Given the description of an element on the screen output the (x, y) to click on. 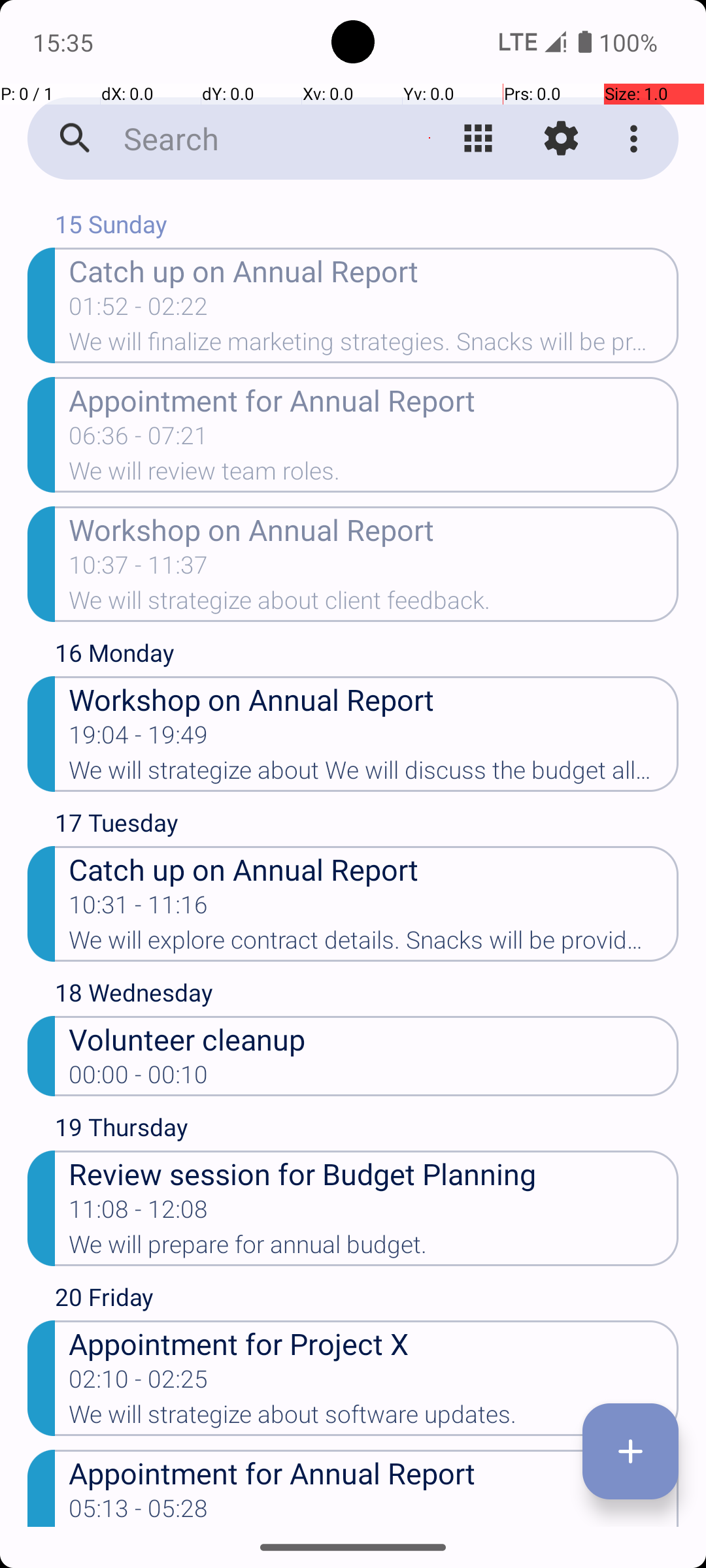
01:52 - 02:22 Element type: android.widget.TextView (137, 309)
We will finalize marketing strategies. Snacks will be provided. Element type: android.widget.TextView (373, 345)
06:36 - 07:21 Element type: android.widget.TextView (137, 439)
We will review team roles. Element type: android.widget.TextView (373, 474)
10:37 - 11:37 Element type: android.widget.TextView (137, 568)
We will strategize about client feedback. Element type: android.widget.TextView (373, 603)
19:04 - 19:49 Element type: android.widget.TextView (137, 738)
We will strategize about We will discuss the budget allocation and prDuring our meeting, we will outline the key points of the project, including deliverables, timelines, oject timeline during the meeting. contract details. Element type: android.widget.TextView (373, 773)
10:31 - 11:16 Element type: android.widget.TextView (137, 908)
We will explore contract details. Snacks will be provided. Element type: android.widget.TextView (373, 943)
Volunteer cleanup Element type: android.widget.TextView (373, 1038)
00:00 - 00:10 Element type: android.widget.TextView (137, 1078)
11:08 - 12:08 Element type: android.widget.TextView (137, 1212)
We will prepare for annual budget. Element type: android.widget.TextView (373, 1248)
02:10 - 02:25 Element type: android.widget.TextView (137, 1382)
We will strategize about software updates. Element type: android.widget.TextView (373, 1418)
05:13 - 05:28 Element type: android.widget.TextView (137, 1510)
